Given the description of an element on the screen output the (x, y) to click on. 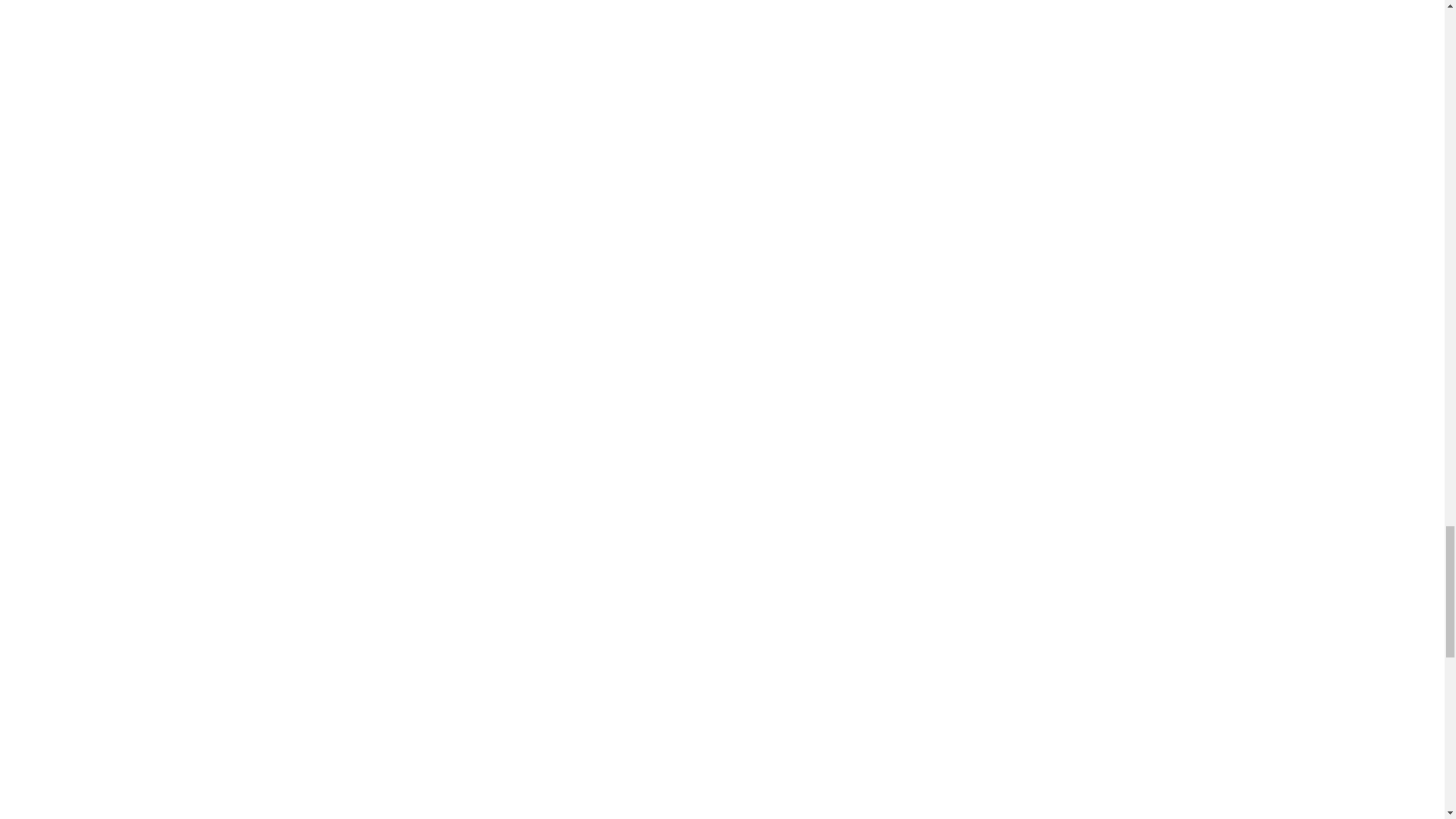
40 Element type: text (569, 18)
SPONSORS Element type: text (772, 18)
HOME Element type: text (525, 18)
FIT Element type: text (606, 18)
STYLE Element type: text (651, 18)
ABOUT Element type: text (837, 18)
TRAVEL Element type: text (706, 18)
GUEST POST Element type: text (905, 18)
